Given the description of an element on the screen output the (x, y) to click on. 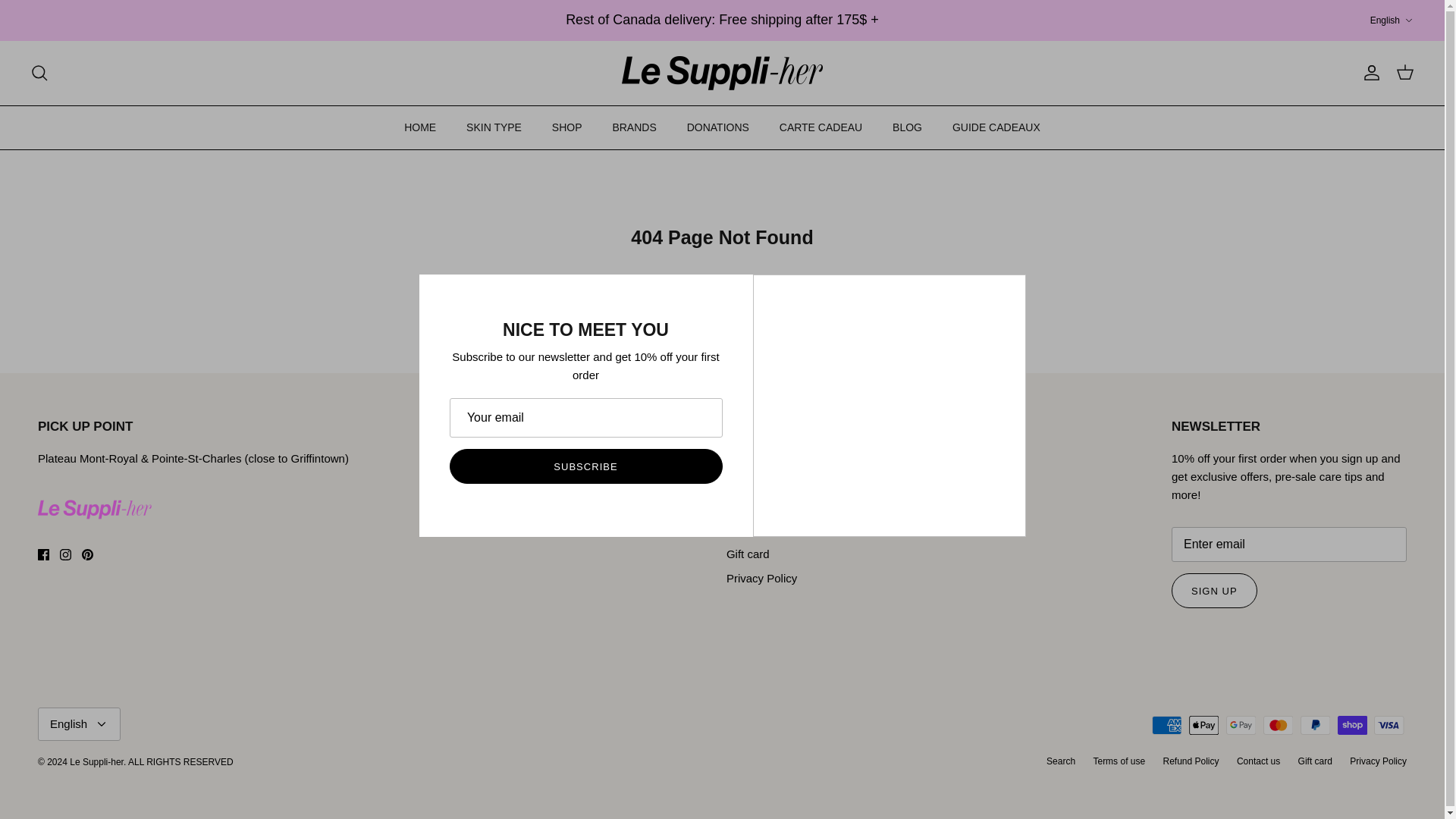
Le Suppli-her (721, 73)
SHOP (566, 127)
PayPal (1391, 20)
Cart (1315, 724)
Mastercard (1404, 72)
Facebook (1277, 724)
Shop Pay (43, 554)
Down (1352, 724)
American Express (100, 724)
Instagram (1166, 724)
Down (65, 554)
Google Pay (1408, 20)
Apple Pay (1240, 724)
Search (1203, 724)
